Given the description of an element on the screen output the (x, y) to click on. 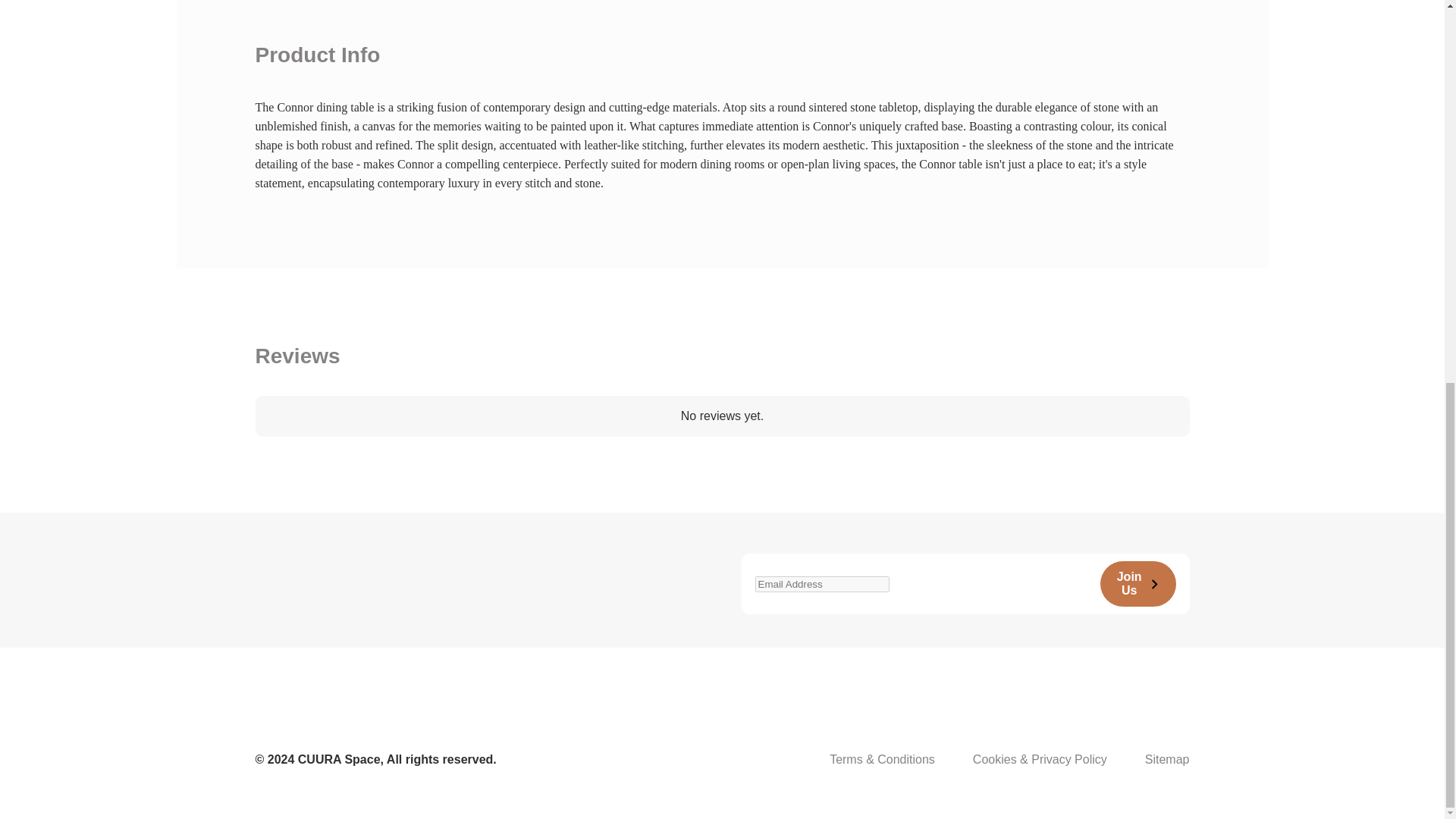
Join Us (1138, 583)
Sitemap (1166, 759)
